Given the description of an element on the screen output the (x, y) to click on. 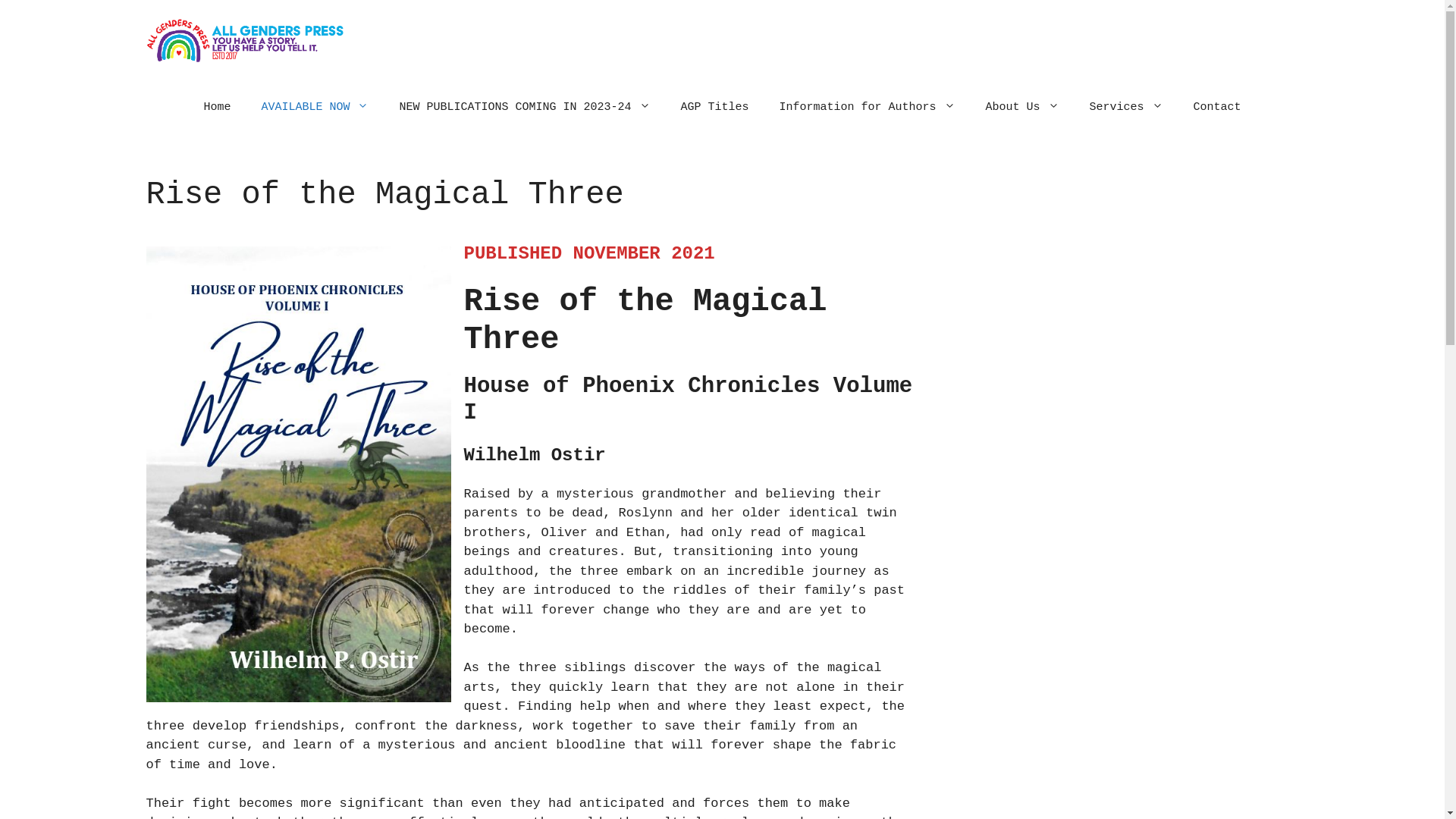
NEW PUBLICATIONS COMING IN 2023-24 Element type: text (524, 107)
Home Element type: text (216, 107)
Contact Element type: text (1217, 107)
AVAILABLE NOW Element type: text (314, 107)
Services Element type: text (1126, 107)
AGP Titles Element type: text (714, 107)
Information for Authors Element type: text (867, 107)
About Us Element type: text (1022, 107)
